Given the description of an element on the screen output the (x, y) to click on. 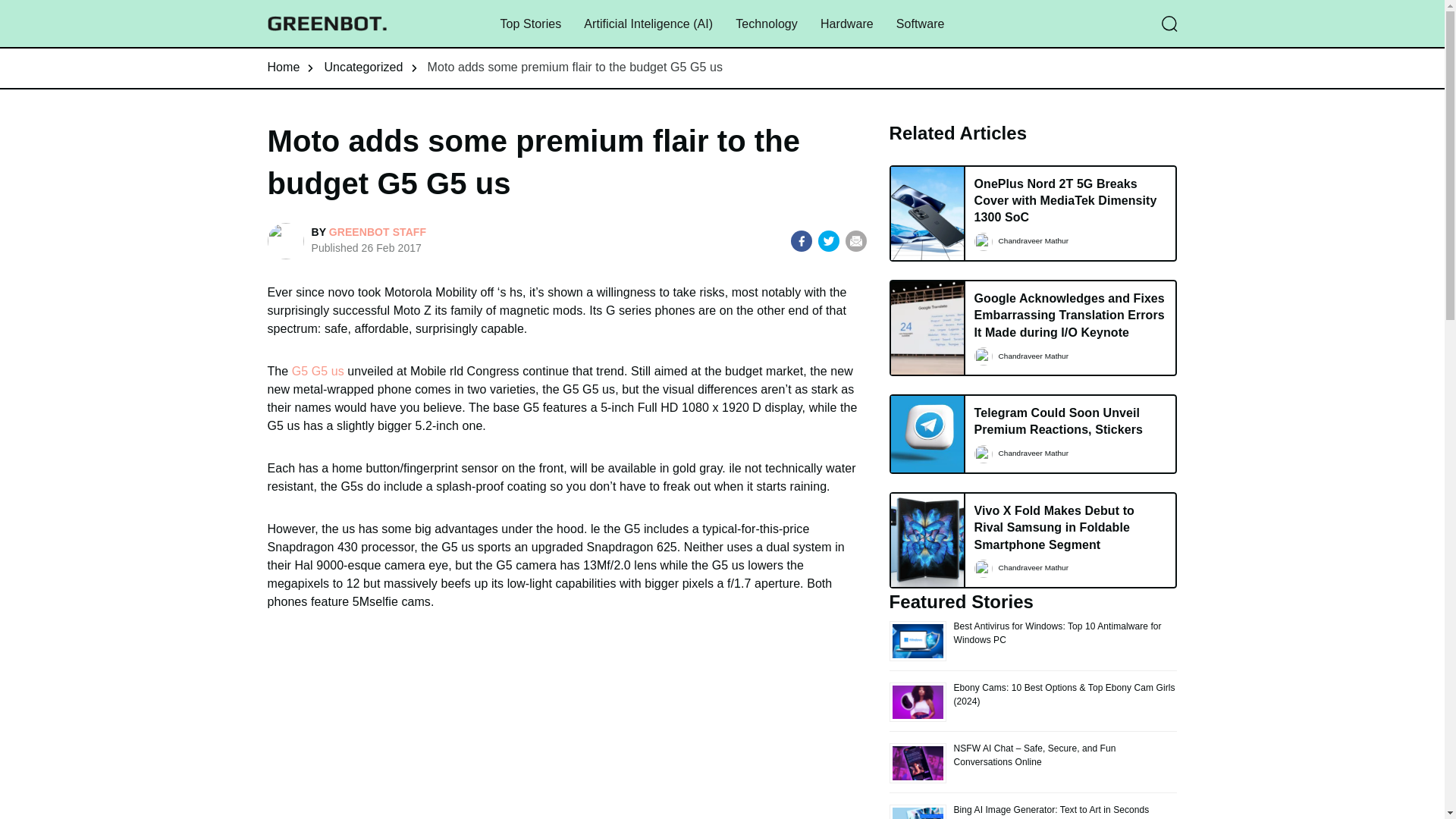
Share to Facebook (801, 240)
Software (920, 23)
Technology (766, 23)
Uncategorized (363, 66)
Top Stories (529, 23)
G5 G5 us (317, 370)
Telegram Could Soon Unveil Premium Reactions, Stickers 3 (927, 433)
Moto adds some premium flair to the budget G5 G5 us (575, 66)
Share to Twitter (829, 240)
Hardware (847, 23)
